Given the description of an element on the screen output the (x, y) to click on. 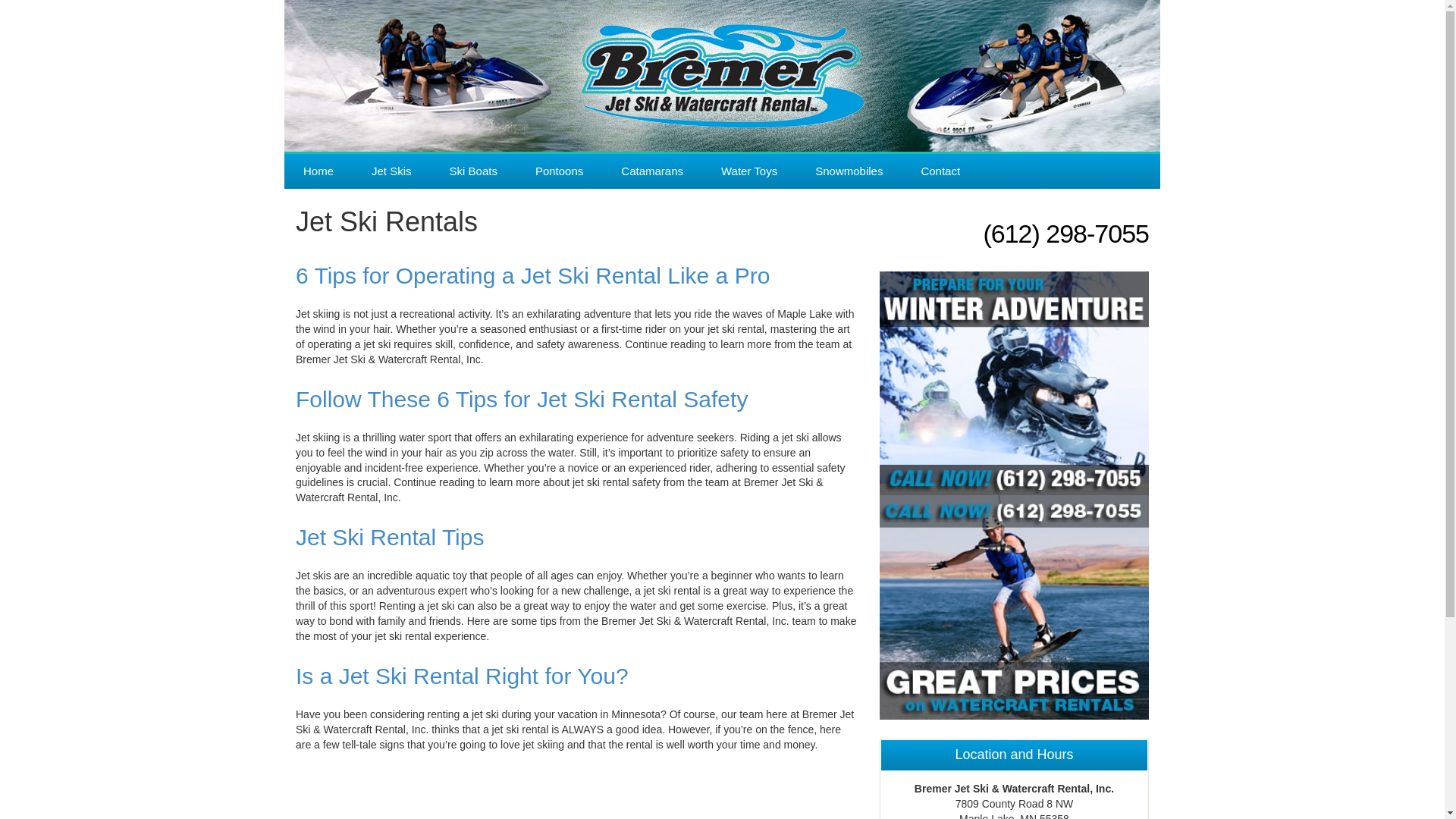
Follow These 6 Tips for Jet Ski Rental Safety (521, 398)
Contact (939, 171)
Home (317, 171)
Pontoons (559, 171)
Snowmobiles (848, 171)
6 Tips for Operating a Jet Ski Rental Like a Pro (532, 275)
Catamarans (651, 171)
Jet Ski Rental Tips (389, 536)
Jet Skis (391, 171)
Ski Boats (473, 171)
Water Toys (748, 171)
